Given the description of an element on the screen output the (x, y) to click on. 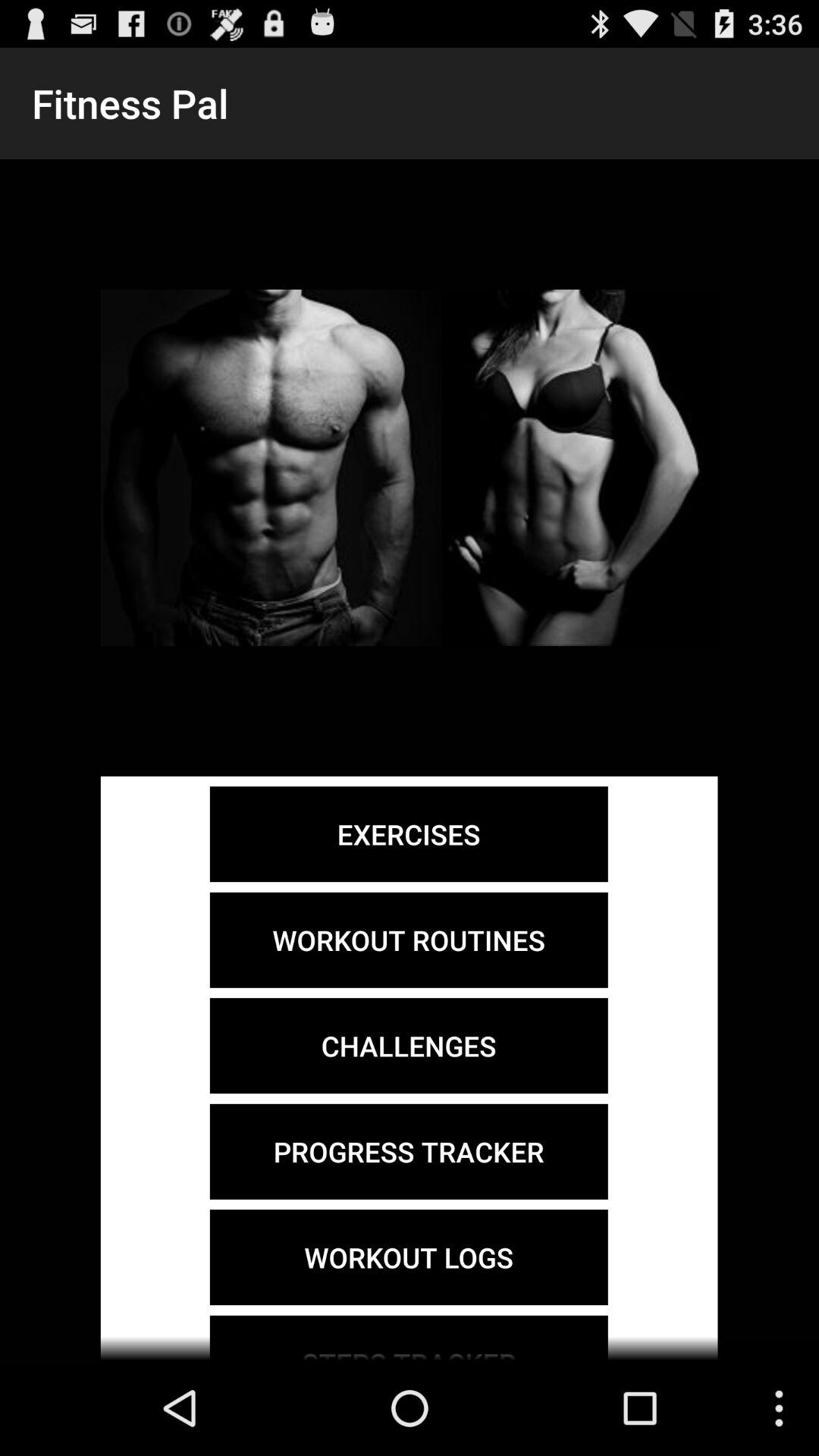
choose the workout logs item (408, 1257)
